Given the description of an element on the screen output the (x, y) to click on. 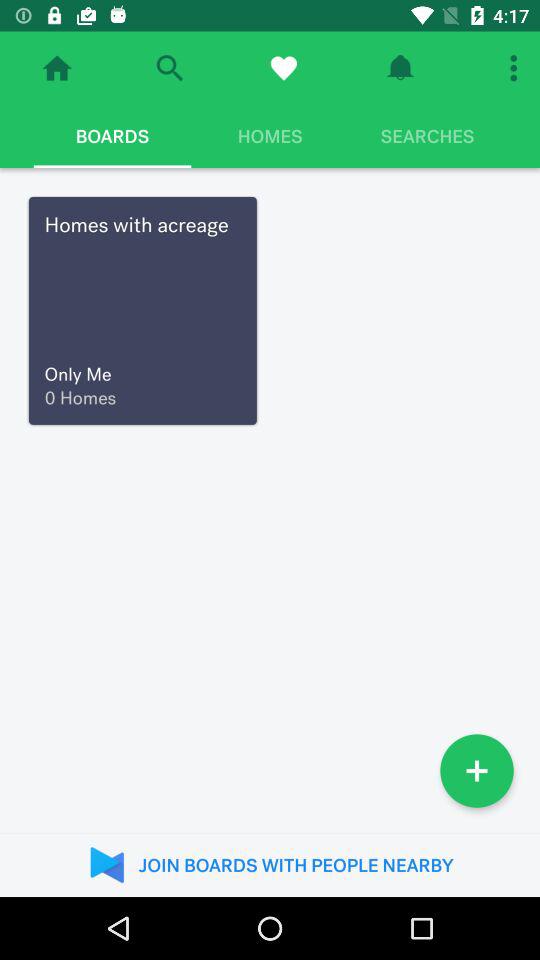
search (169, 68)
